Given the description of an element on the screen output the (x, y) to click on. 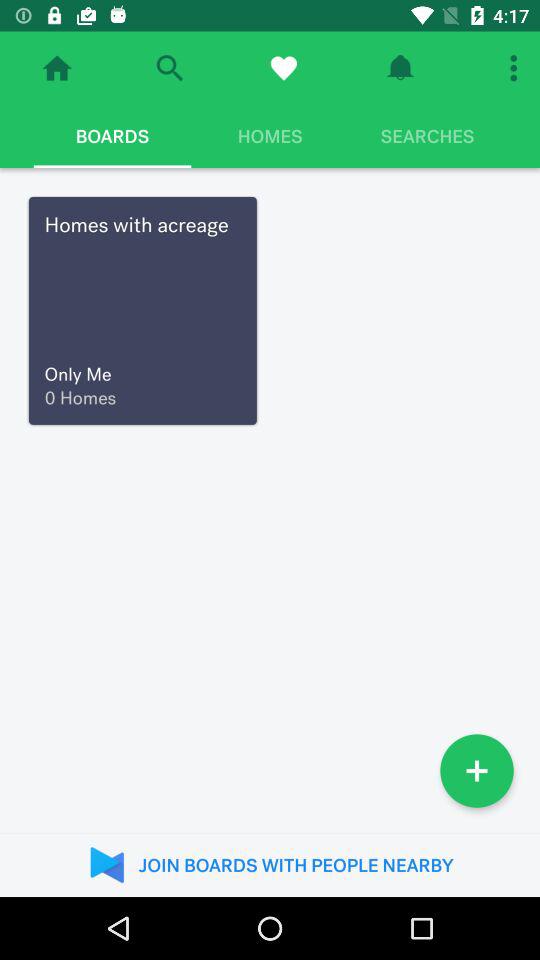
search (169, 68)
